Given the description of an element on the screen output the (x, y) to click on. 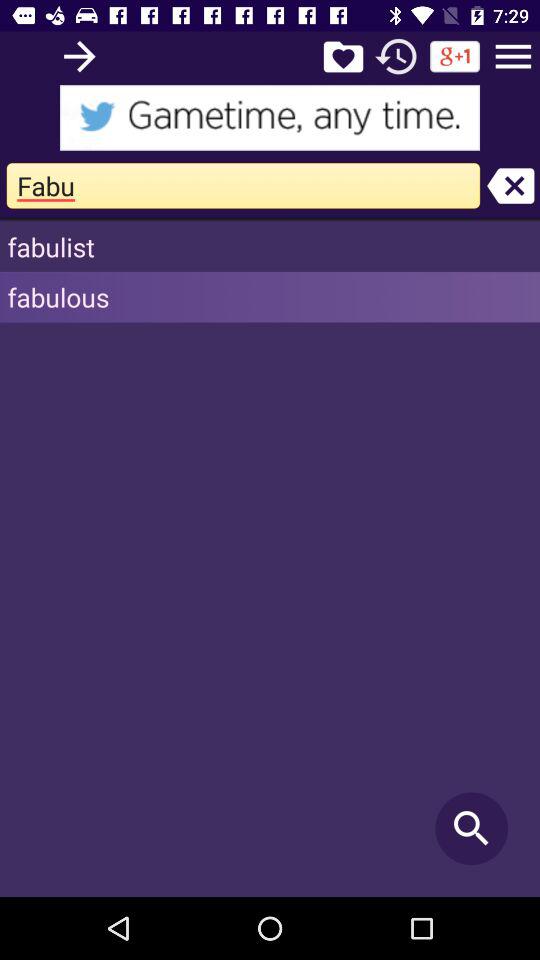
clear the search (510, 185)
